Given the description of an element on the screen output the (x, y) to click on. 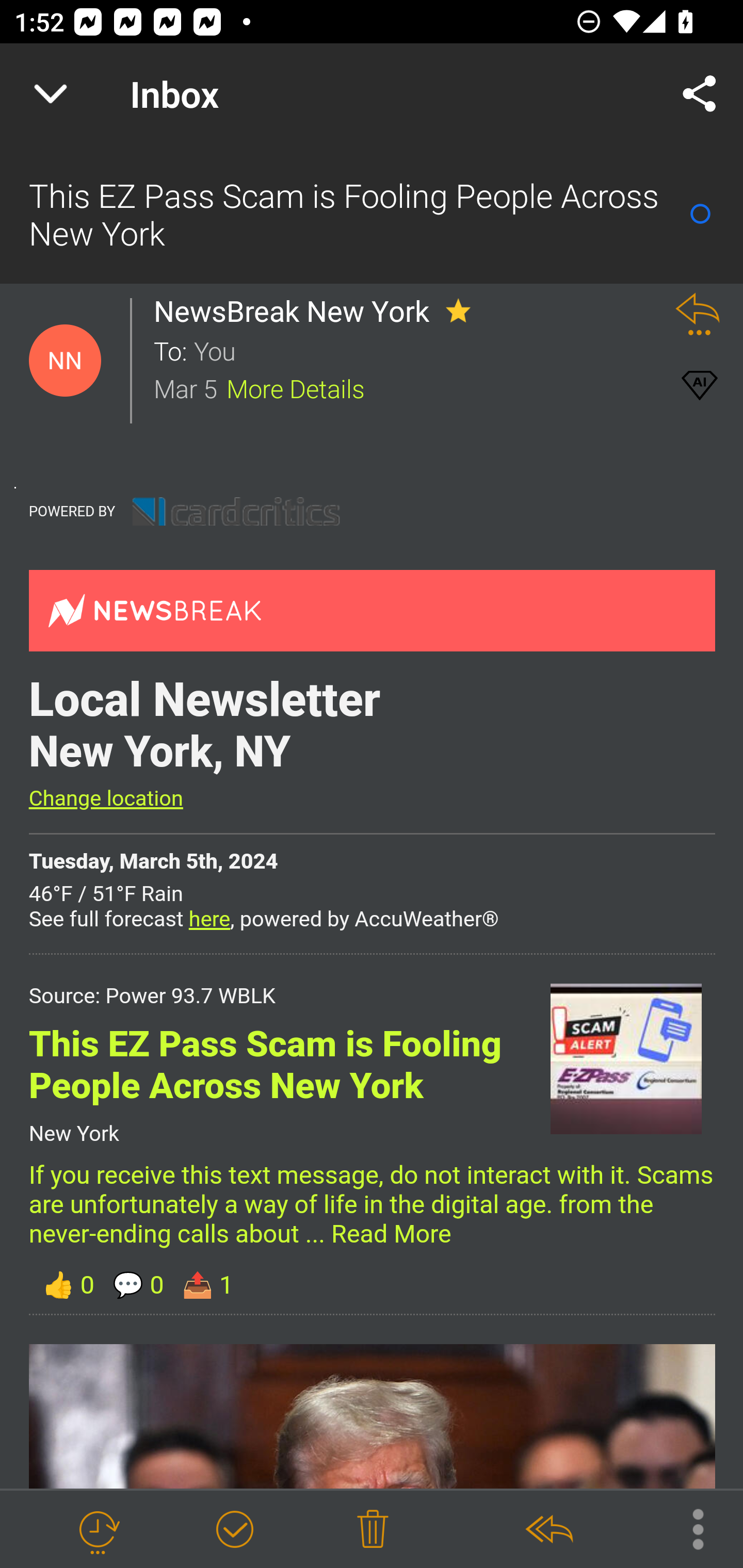
Navigate up (50, 93)
Share (699, 93)
Mark as Read (699, 213)
NewsBreak New York (296, 310)
Contact Details (64, 360)
You (422, 349)
More Details (295, 387)
info (235, 510)
Change location (105, 798)
here (209, 919)
👍 0   💬 0   📤 1 (371, 1283)
More Options (687, 1528)
Snooze (97, 1529)
Mark as Done (234, 1529)
Delete (372, 1529)
Reply All (548, 1529)
